Given the description of an element on the screen output the (x, y) to click on. 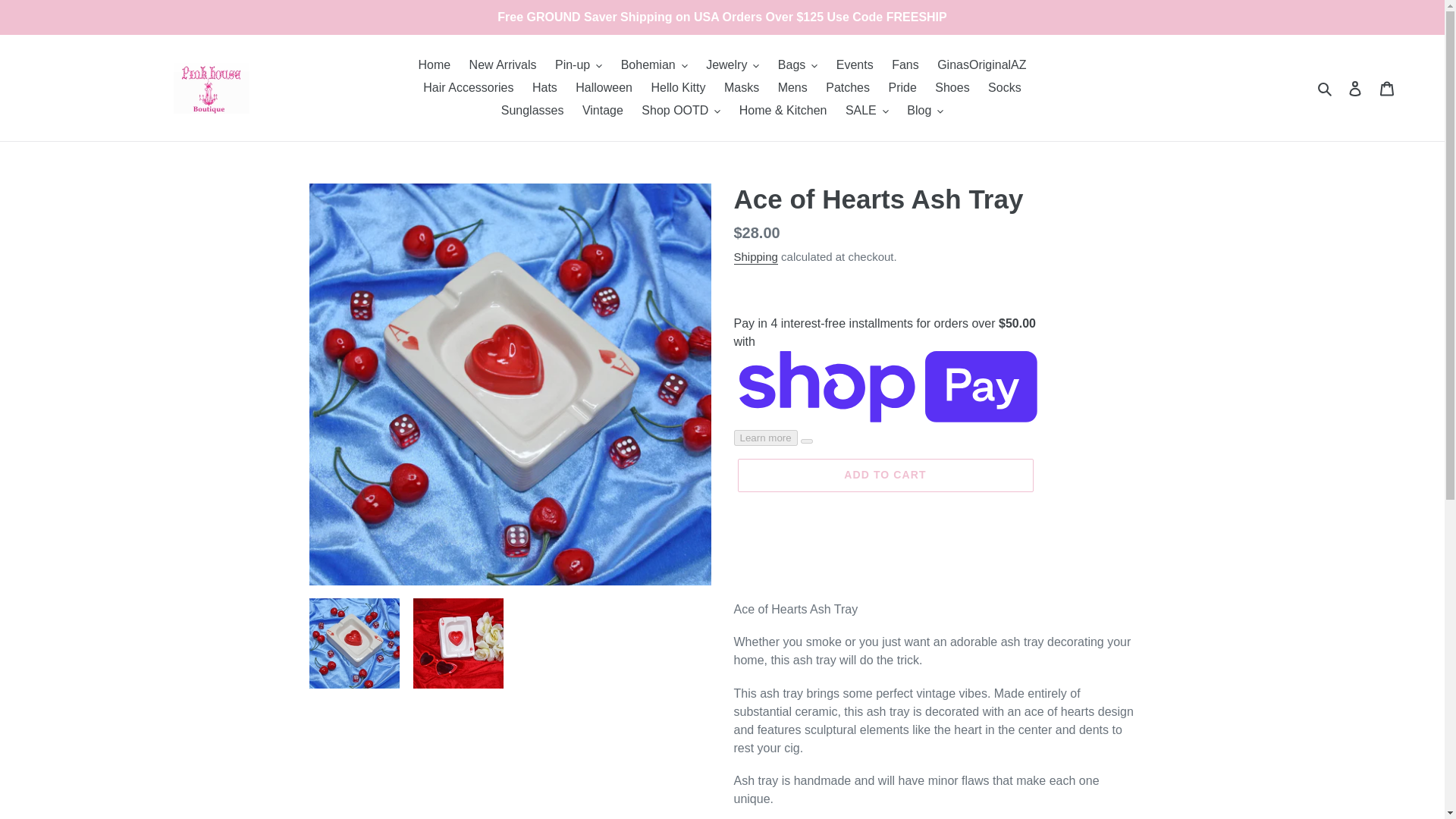
Bags (797, 65)
Jewelry (732, 65)
New Arrivals (502, 65)
Pin-up (578, 65)
Home (434, 65)
Bohemian (653, 65)
